Given the description of an element on the screen output the (x, y) to click on. 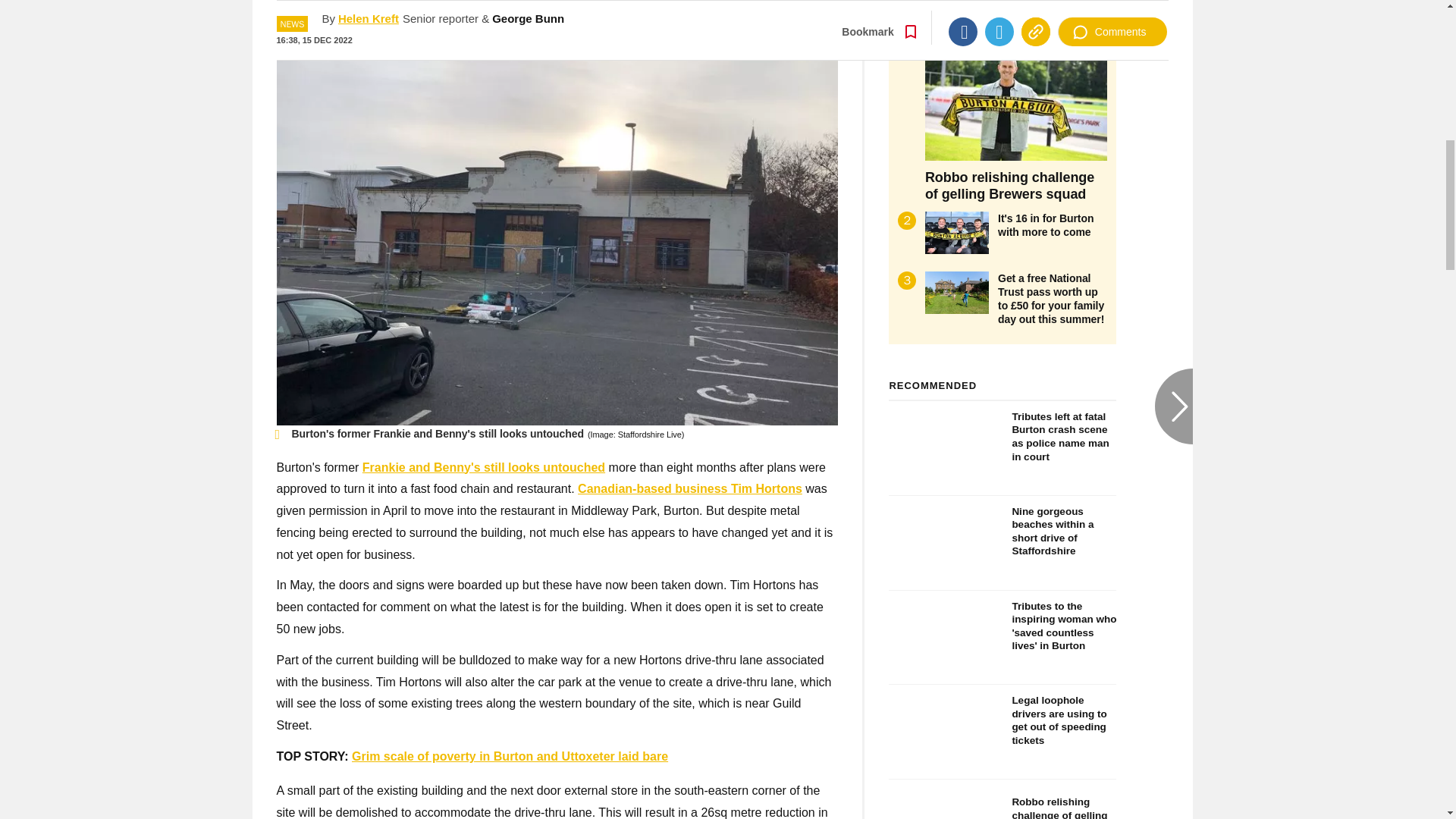
Go (730, 17)
